Given the description of an element on the screen output the (x, y) to click on. 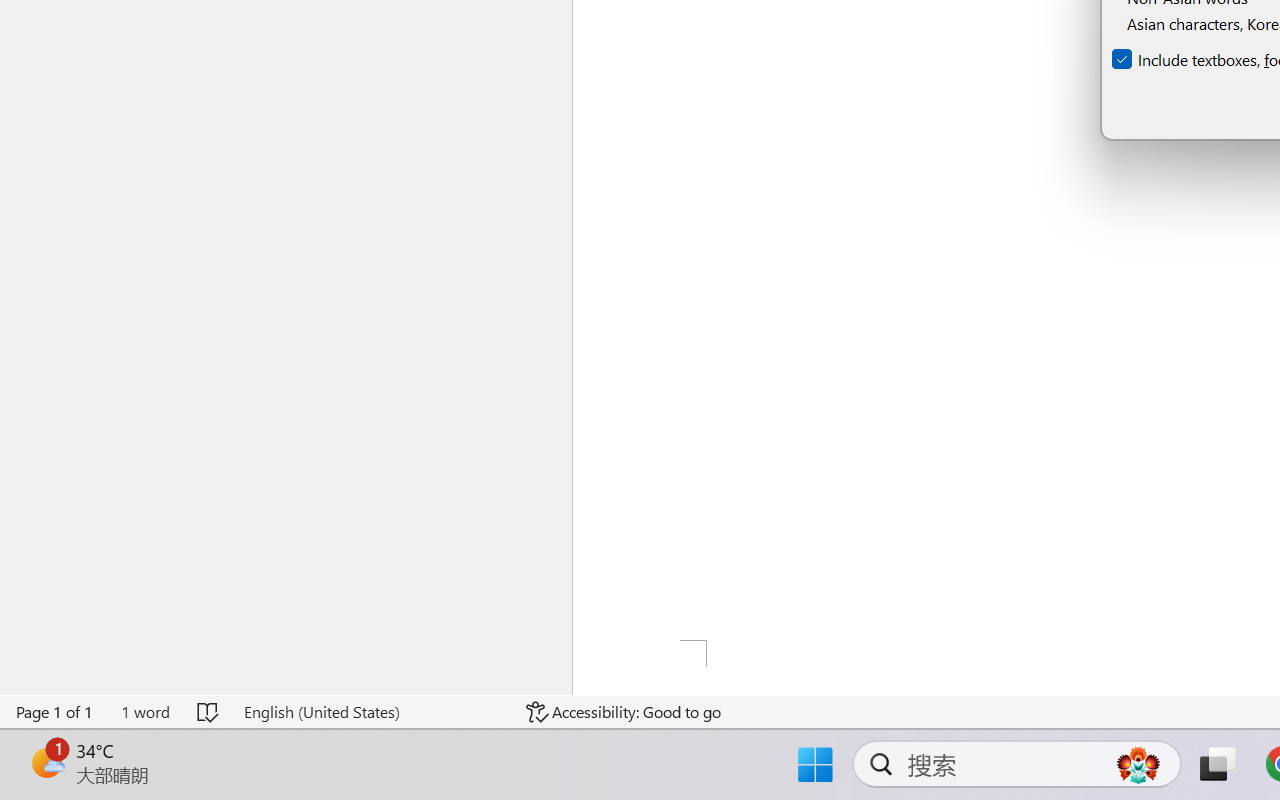
Word Count 1 word (145, 712)
Spelling and Grammar Check No Errors (208, 712)
Accessibility Checker Accessibility: Good to go (623, 712)
Language English (United States) (370, 712)
Page Number Page 1 of 1 (55, 712)
AutomationID: BadgeAnchorLargeTicker (46, 762)
AutomationID: DynamicSearchBoxGleamImage (1138, 764)
